Given the description of an element on the screen output the (x, y) to click on. 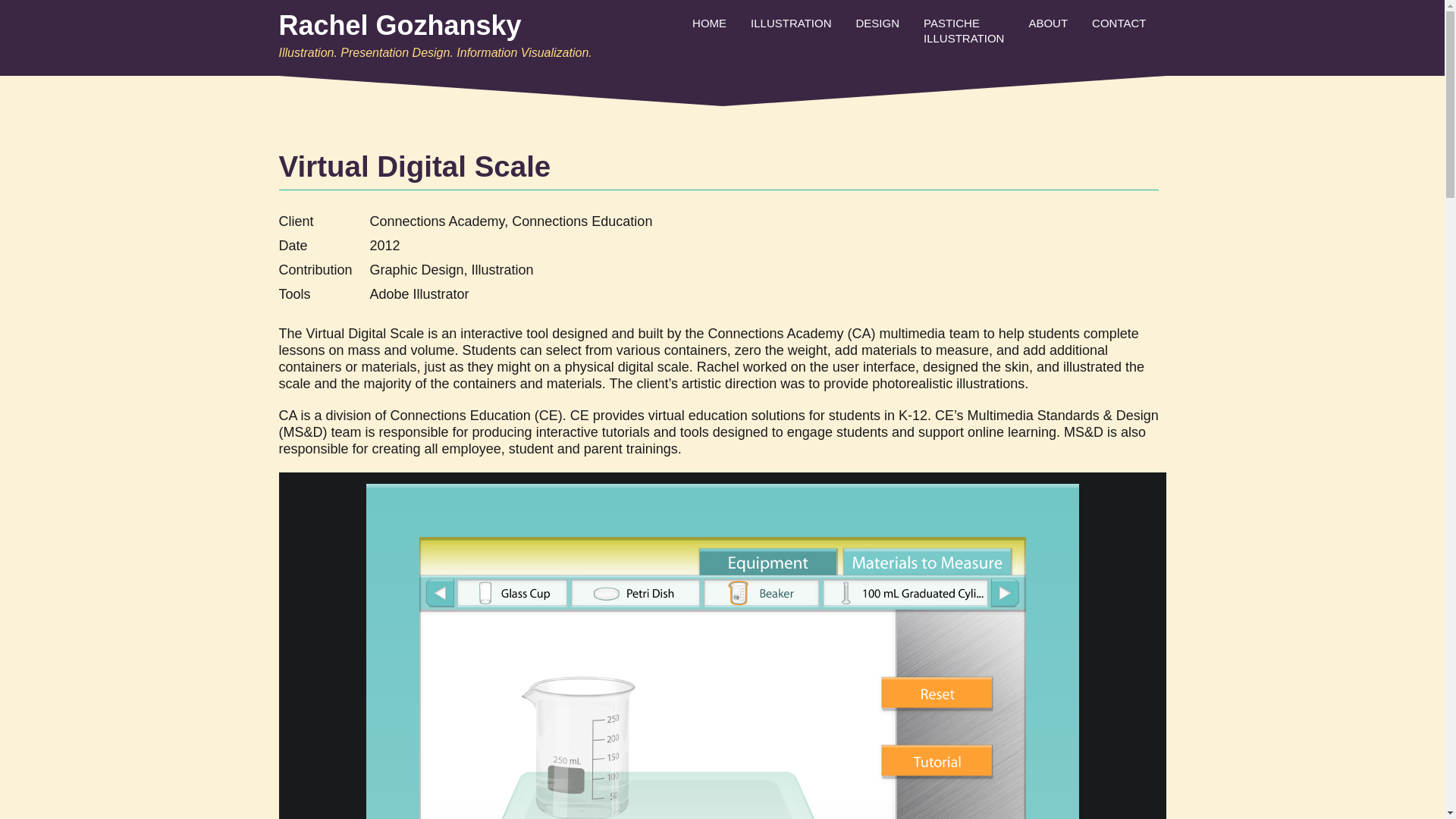
ILLUSTRATION (790, 23)
HOME (708, 23)
DESIGN (877, 23)
ABOUT (1048, 23)
CONTACT (1118, 23)
